Given the description of an element on the screen output the (x, y) to click on. 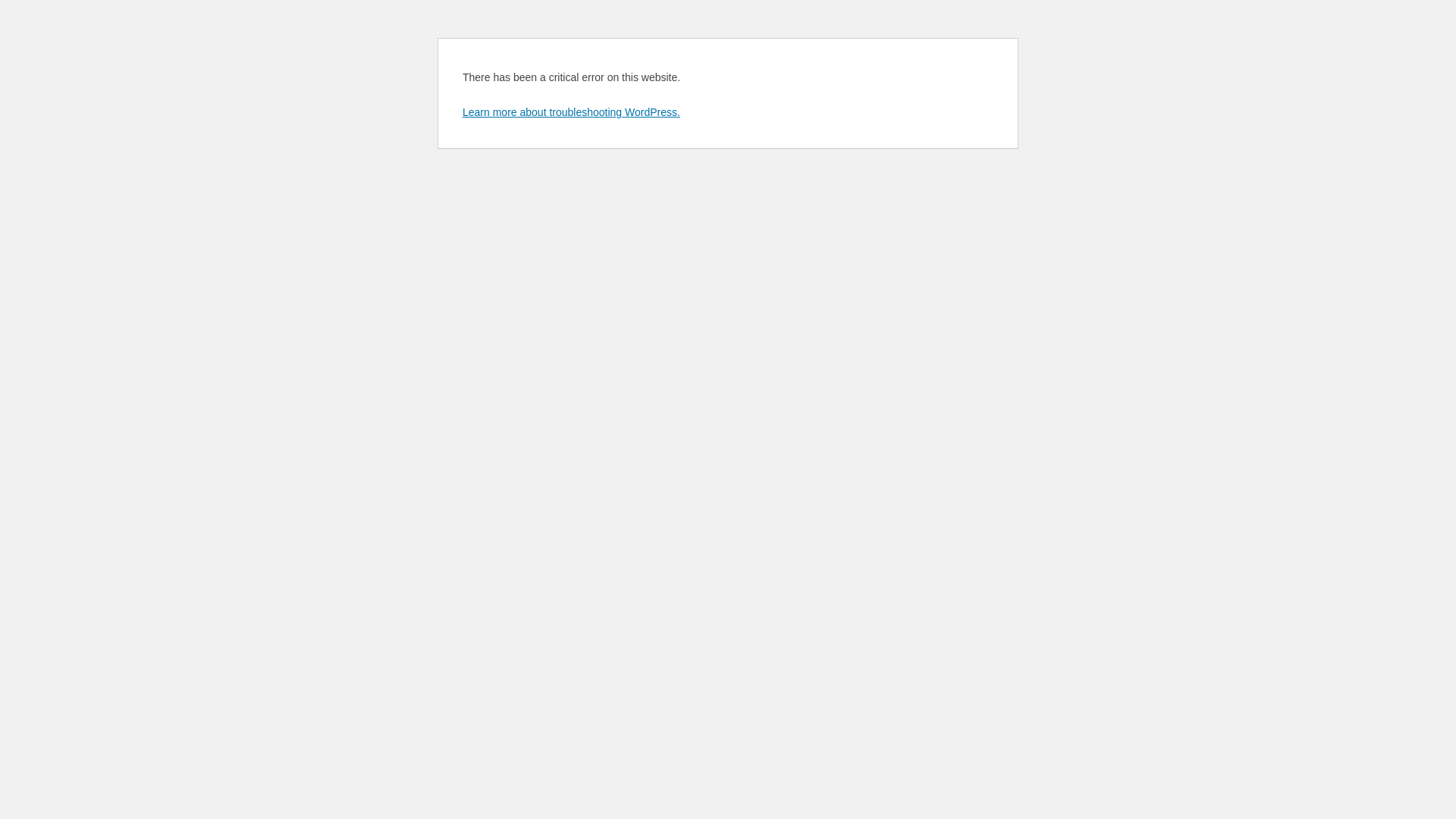
Learn more about troubleshooting WordPress. Element type: text (571, 112)
